Given the description of an element on the screen output the (x, y) to click on. 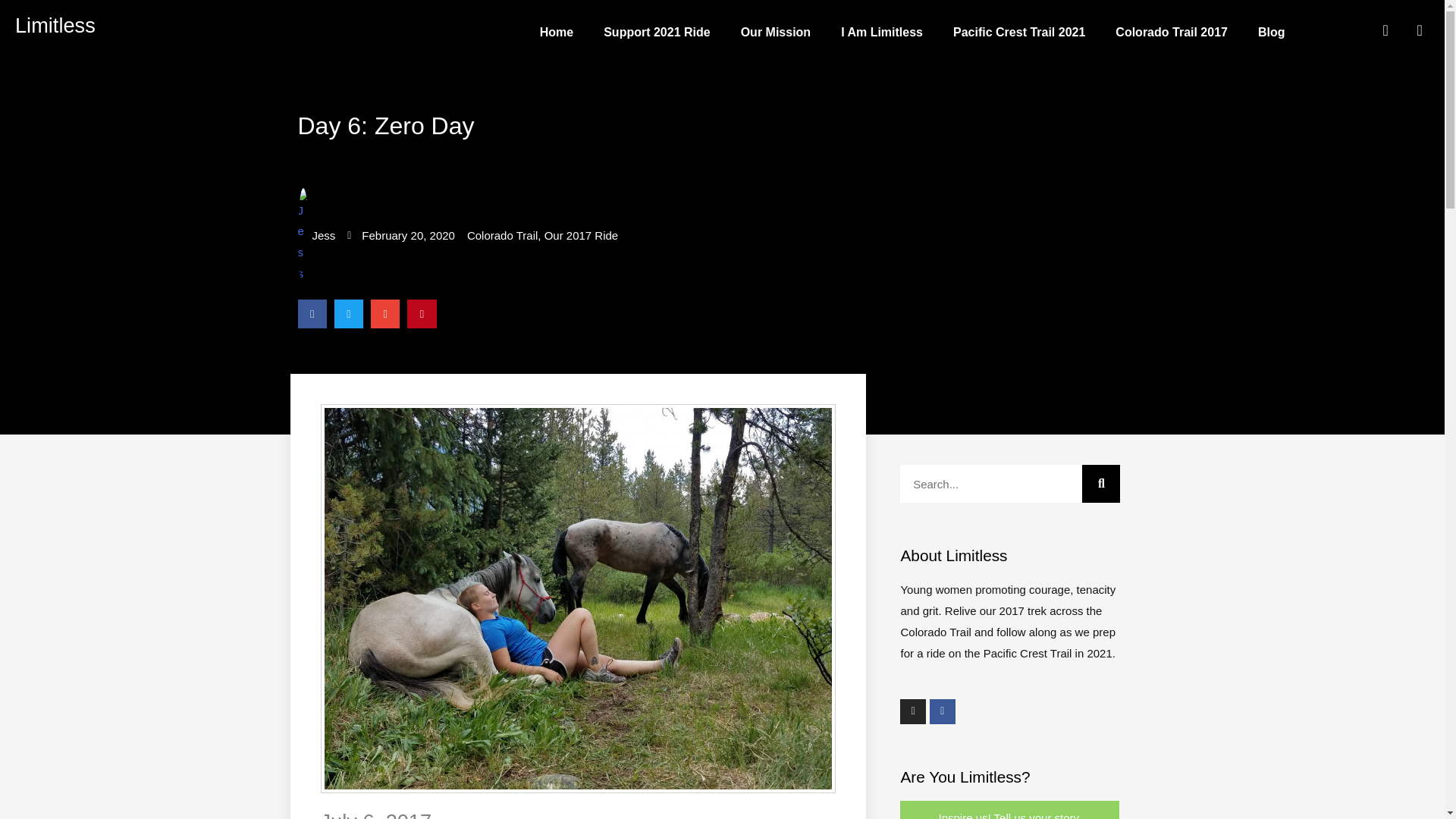
Support 2021 Ride (656, 32)
Limitless (55, 24)
Search (1100, 483)
Colorado Trail 2017 (1171, 32)
I Am Limitless (881, 32)
Blog (1271, 32)
Search (990, 483)
Colorado Trail (502, 235)
Our Mission (775, 32)
February 20, 2020 (400, 235)
Our 2017 Ride (581, 235)
Pacific Crest Trail 2021 (1018, 32)
Jess (315, 236)
Home (556, 32)
